Given the description of an element on the screen output the (x, y) to click on. 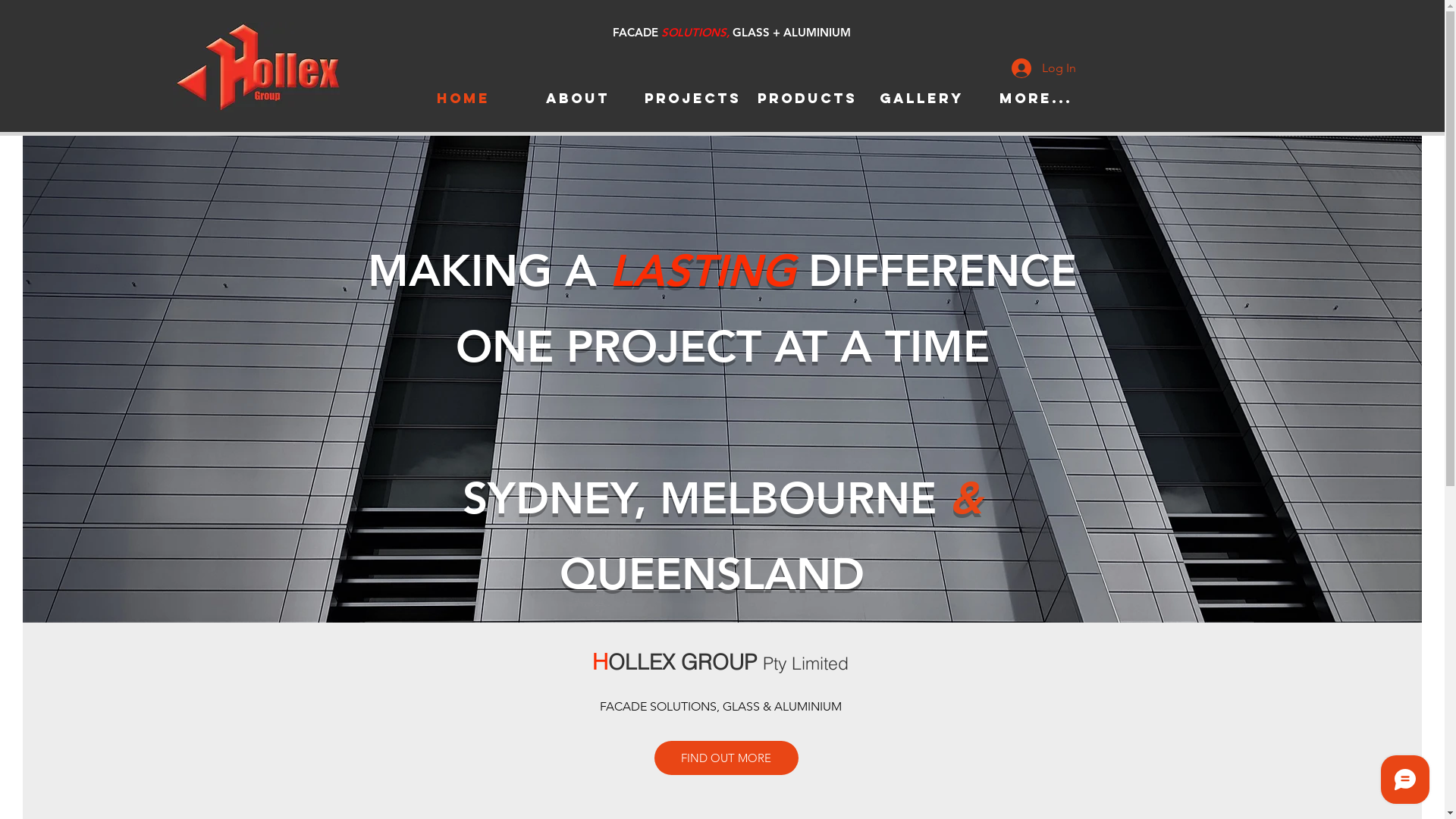
PRODUCTS Element type: text (806, 98)
HOME Element type: text (463, 98)
FIND OUT MORE Element type: text (725, 757)
Log In Element type: text (1043, 67)
GALLERY Element type: text (921, 98)
ABOUT Element type: text (577, 98)
PROJECTS Element type: text (692, 98)
